Given the description of an element on the screen output the (x, y) to click on. 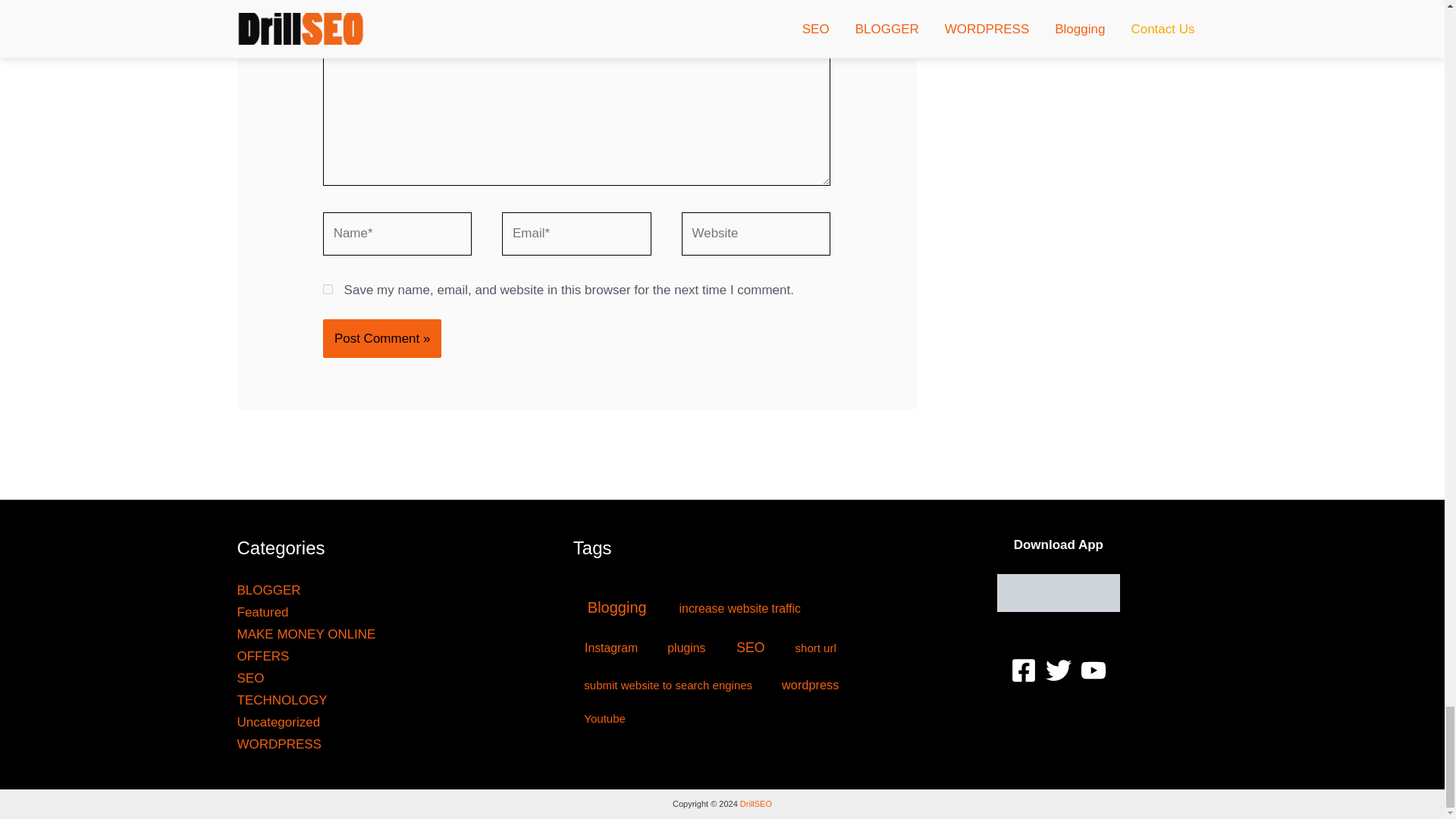
yes (328, 289)
